Given the description of an element on the screen output the (x, y) to click on. 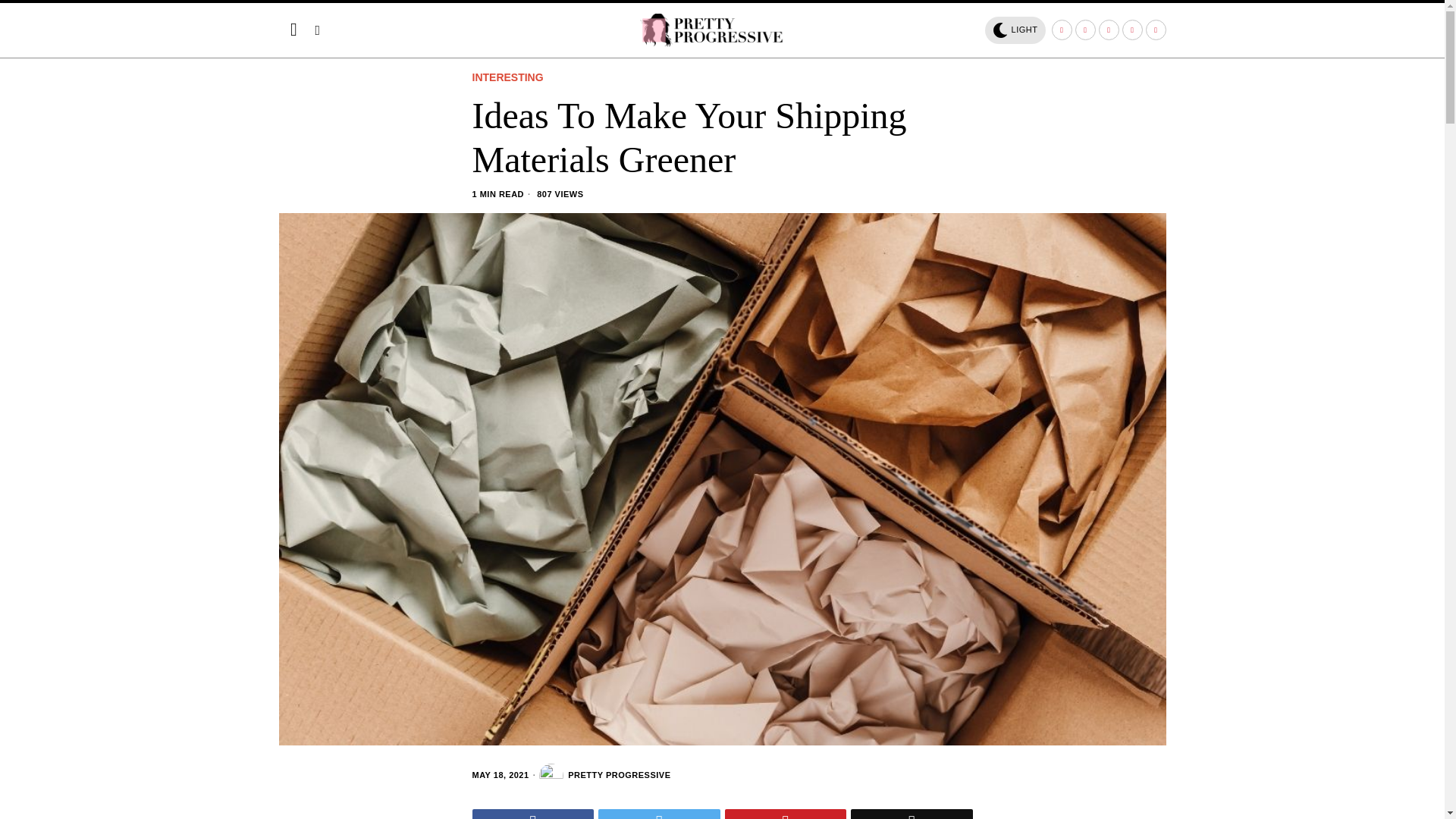
18 May, 2021 19:04:53 (499, 775)
INTERESTING (507, 78)
PRETTY PROGRESSIVE (603, 775)
